Given the description of an element on the screen output the (x, y) to click on. 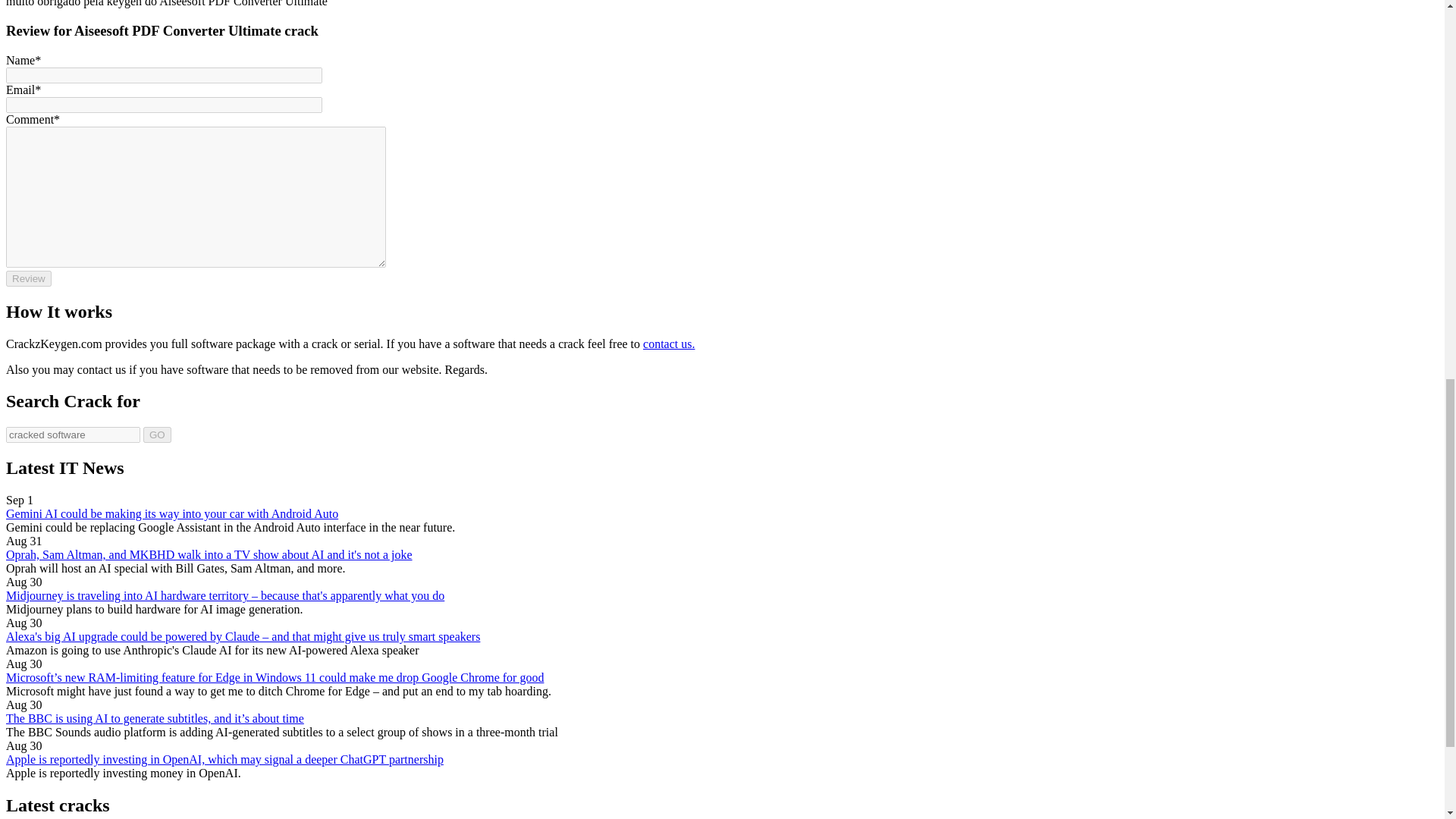
GO (156, 434)
Review (27, 278)
GO (156, 434)
contact us. (668, 343)
Review (27, 278)
